Given the description of an element on the screen output the (x, y) to click on. 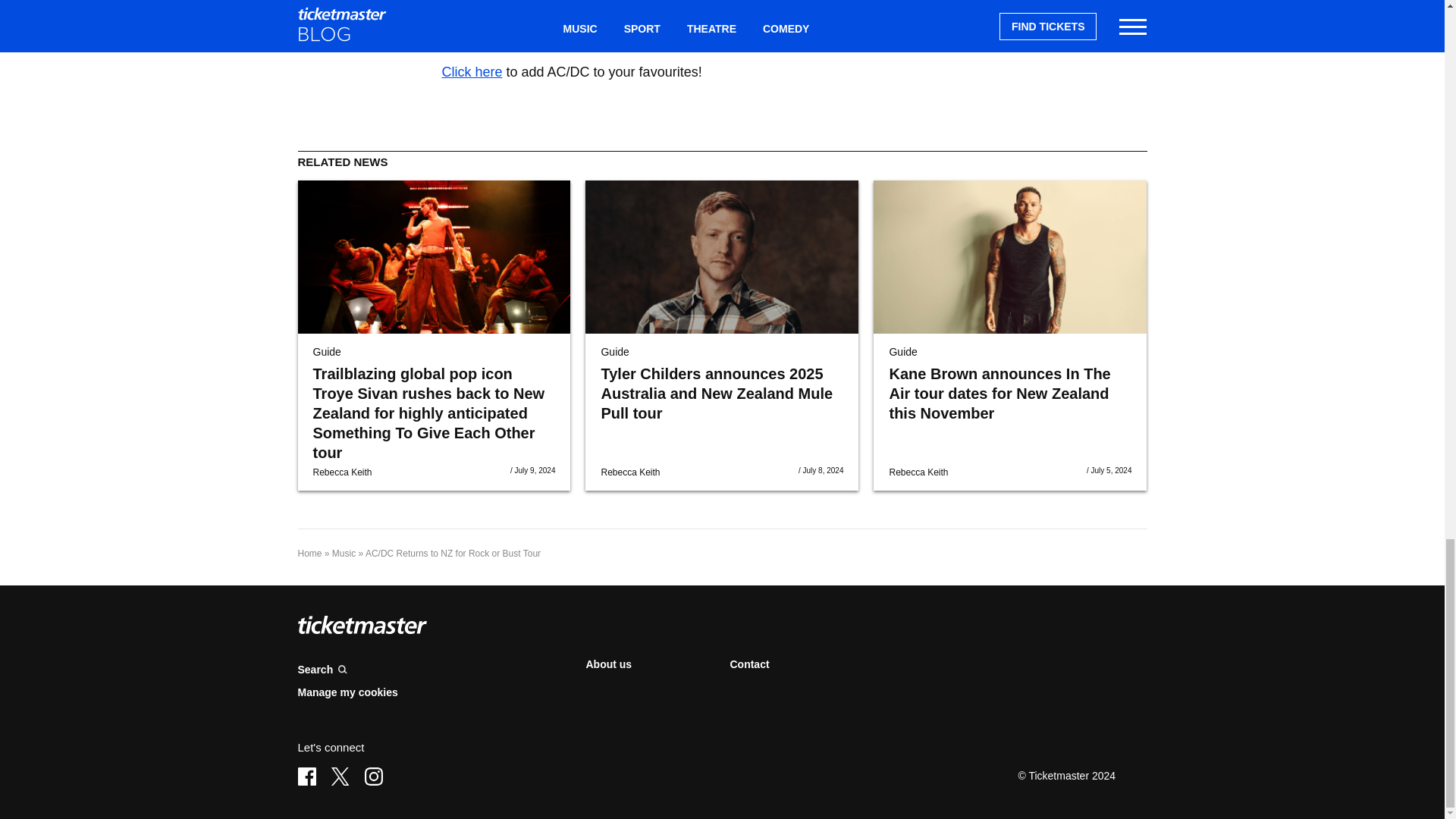
Click here (471, 71)
Music (343, 552)
Facebook (306, 776)
Home (309, 552)
Rebecca Keith (629, 471)
Search (433, 669)
About us (608, 664)
Twitter (339, 776)
Contact (748, 664)
Rebecca Keith (342, 471)
